Given the description of an element on the screen output the (x, y) to click on. 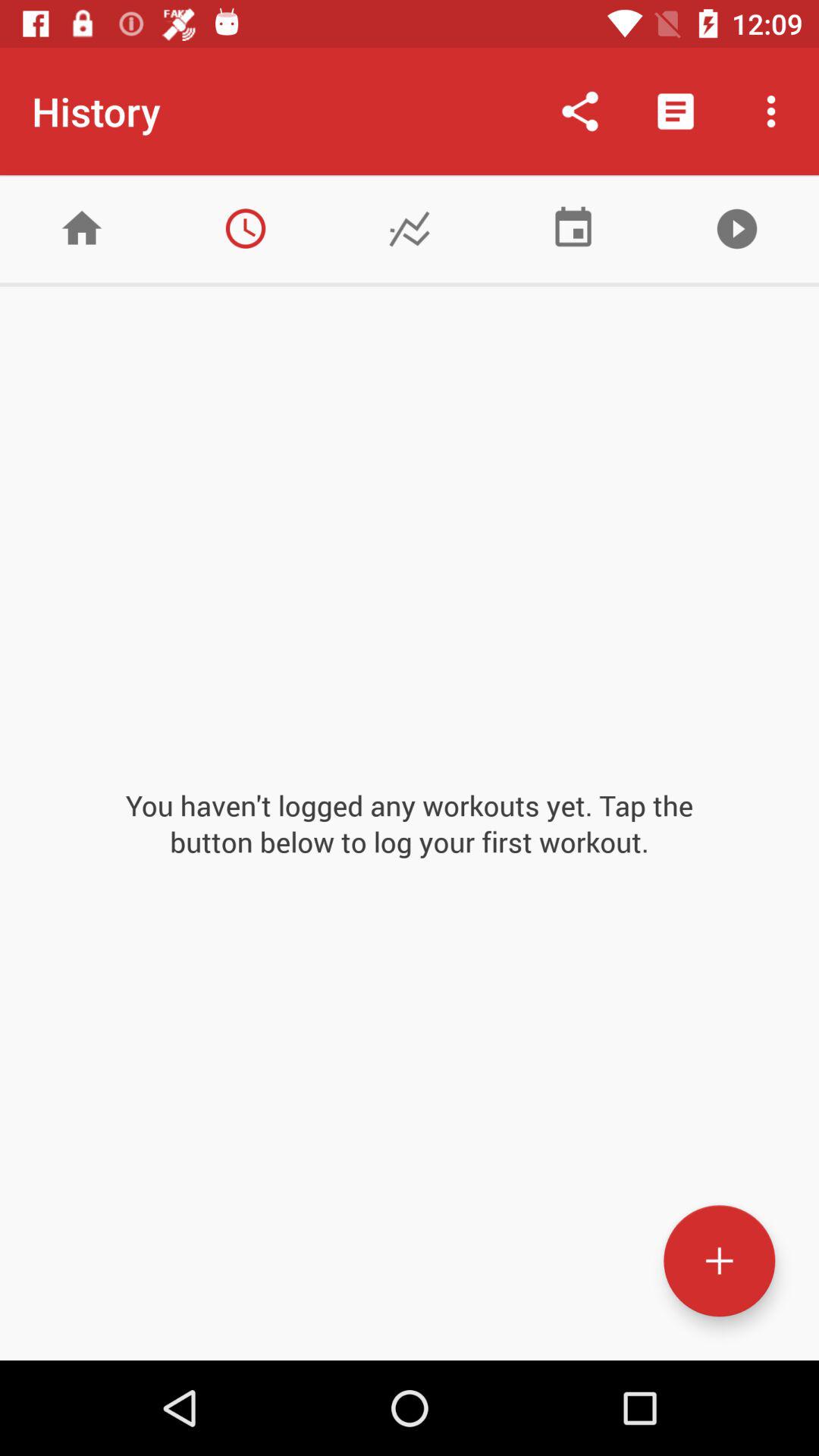
see progress (409, 228)
